Given the description of an element on the screen output the (x, y) to click on. 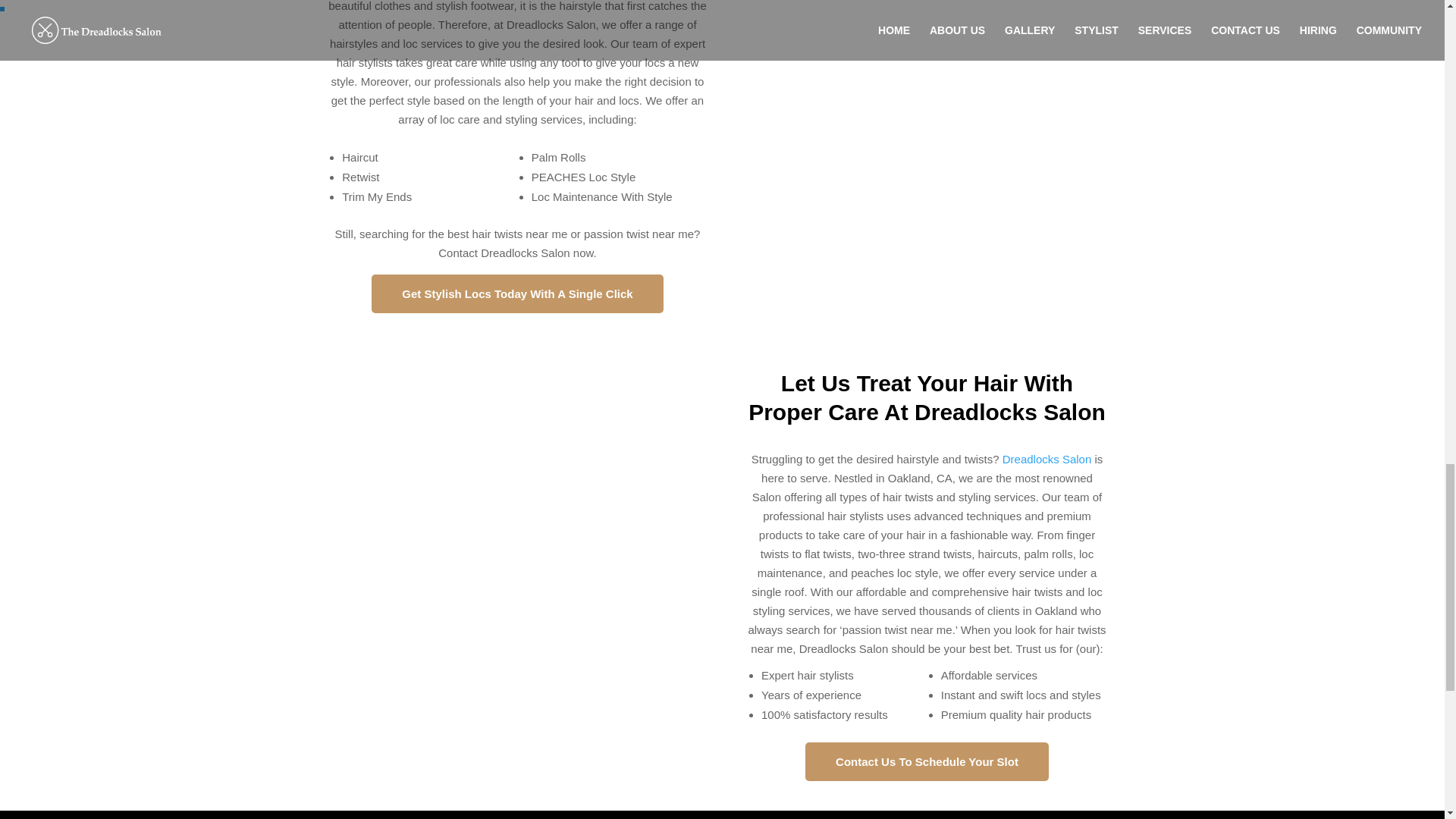
Dreadlocks Salon (1047, 459)
Get Stylish Locs Today With A Single Click (516, 293)
Contact Us To Schedule Your Slot (926, 761)
